Given the description of an element on the screen output the (x, y) to click on. 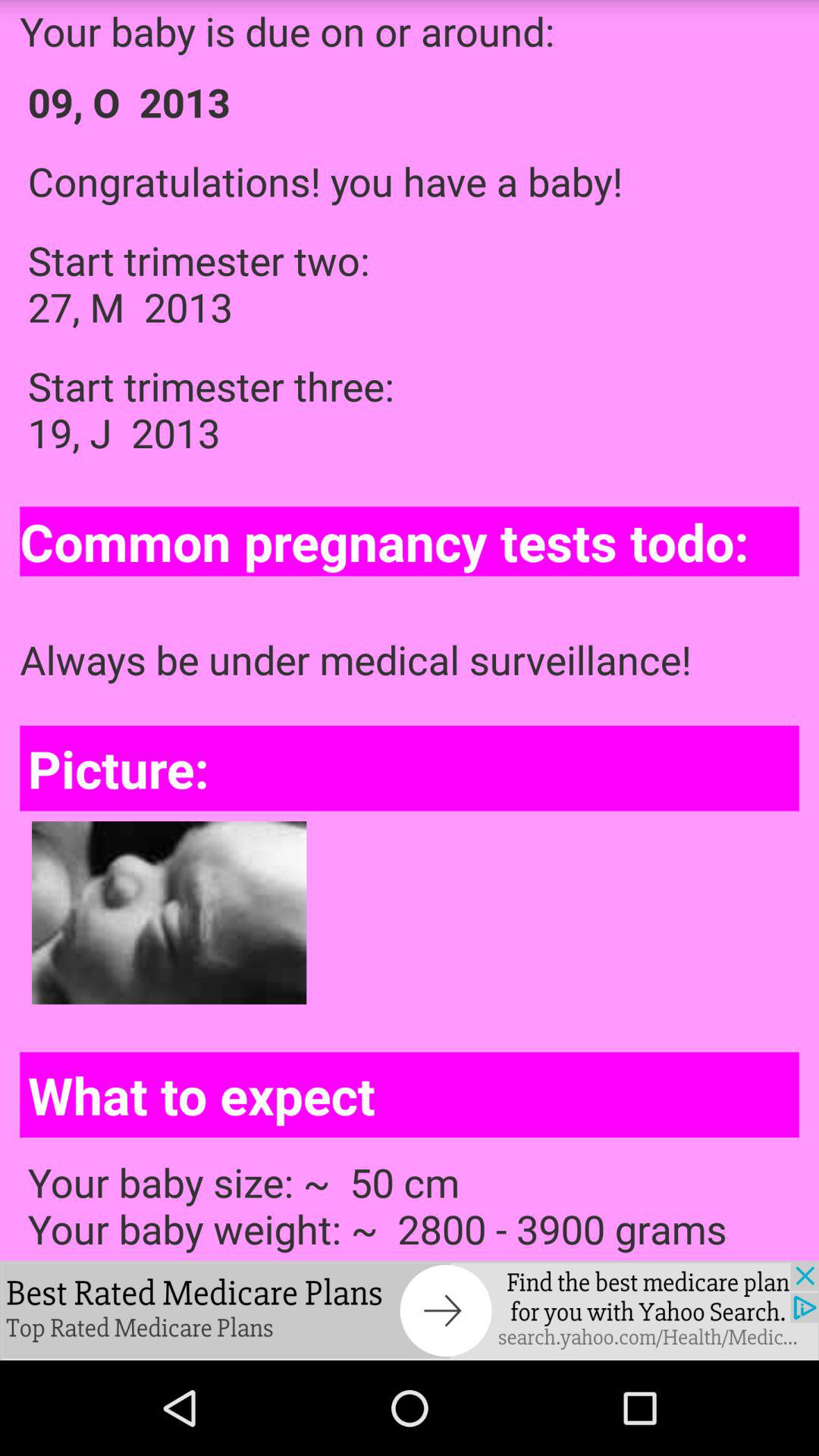
select the photo which is above what to expect on the page (168, 912)
